Given the description of an element on the screen output the (x, y) to click on. 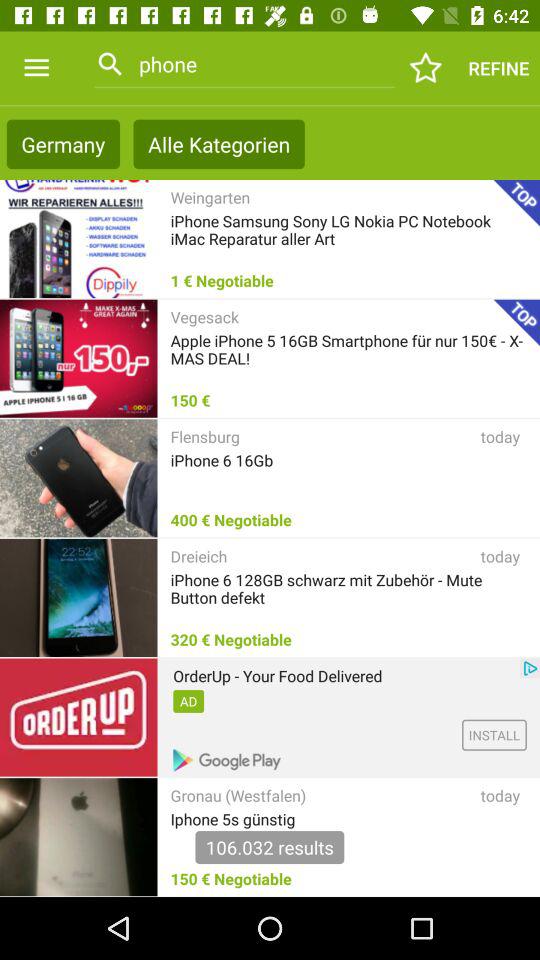
flip until refine icon (498, 67)
